Given the description of an element on the screen output the (x, y) to click on. 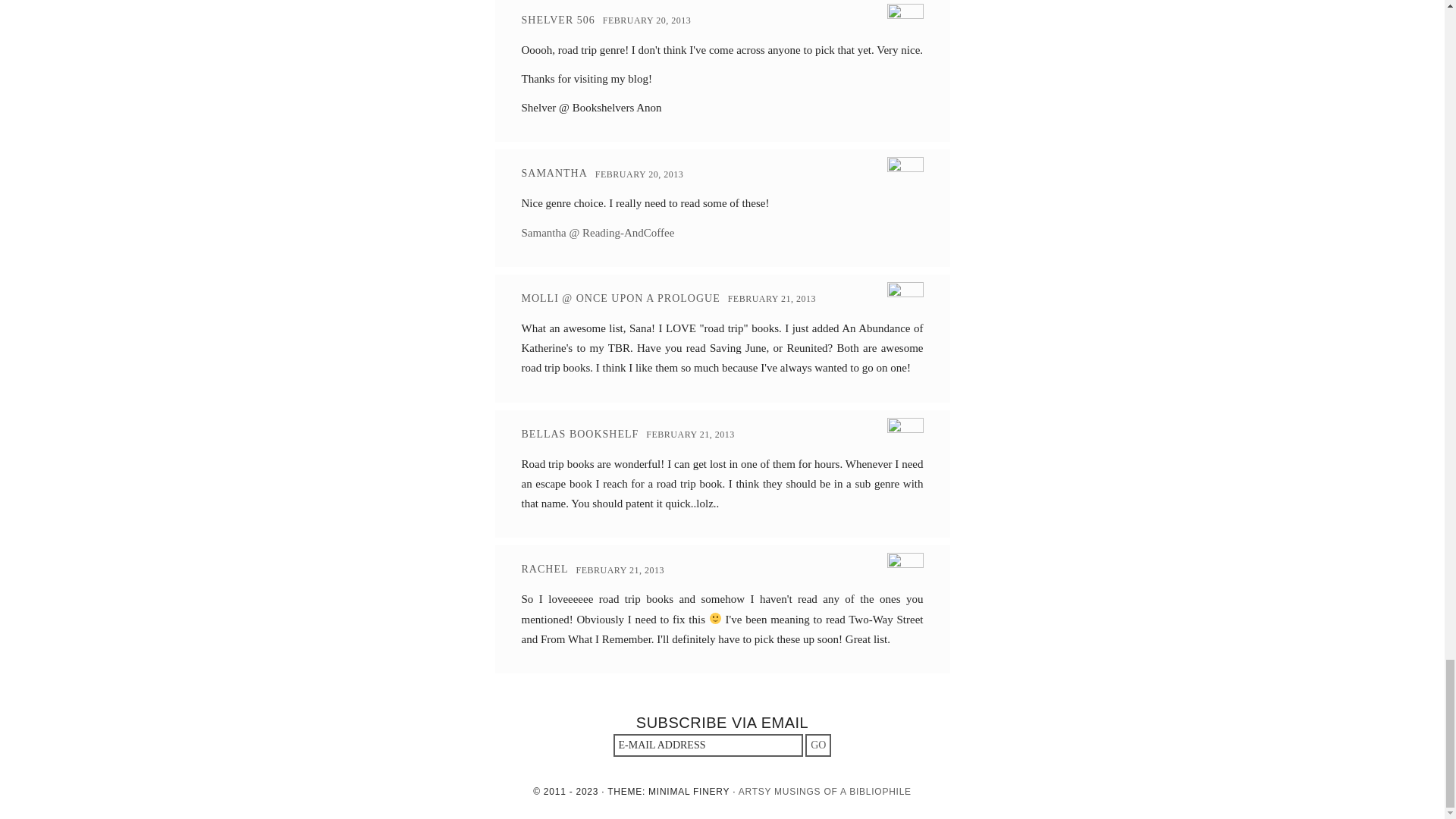
Go (818, 744)
